Given the description of an element on the screen output the (x, y) to click on. 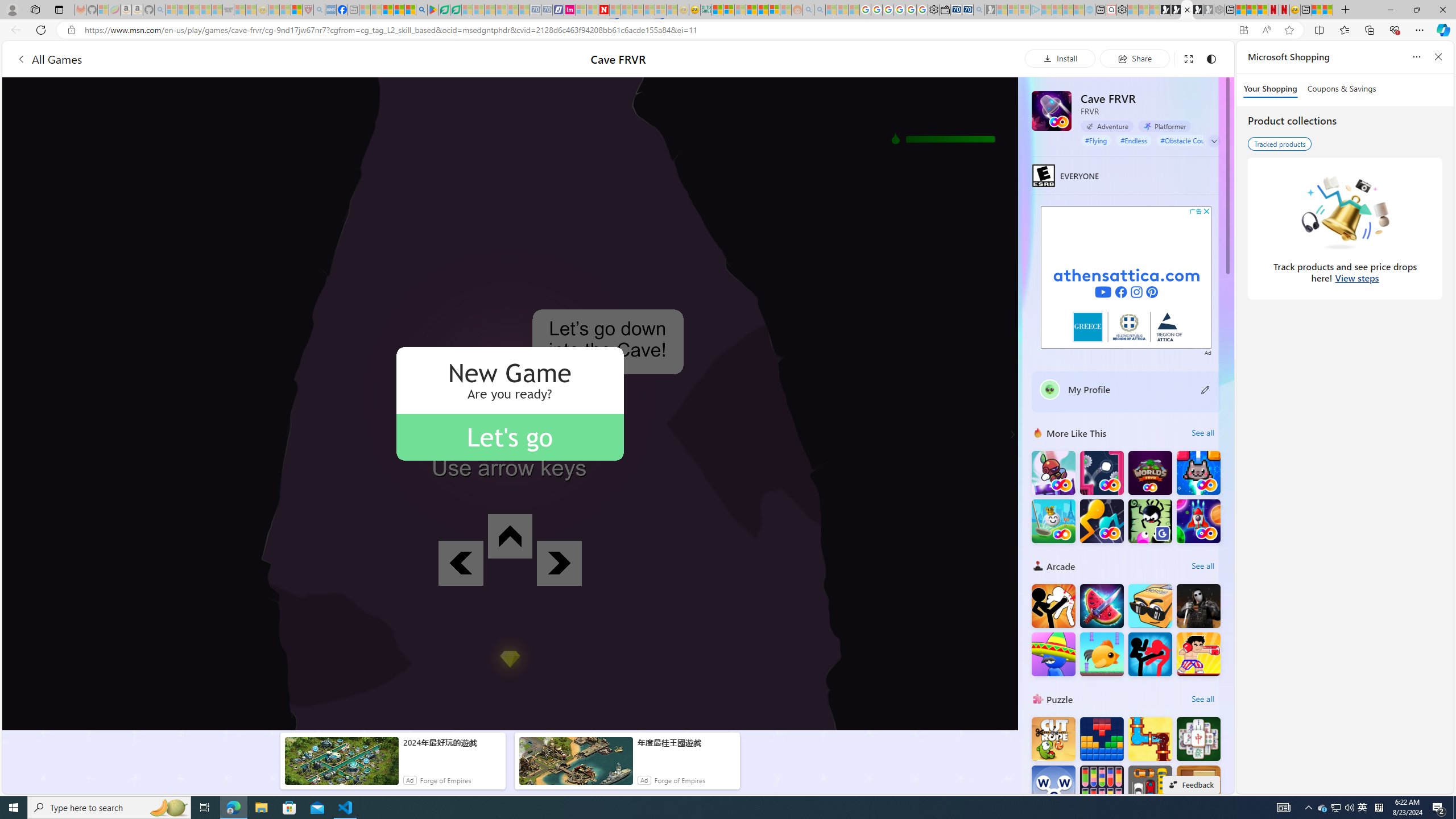
Golf Gardens FRVR (1053, 521)
Adventure (1107, 126)
Hunter Hitman (1198, 605)
Wildlife - MSN (1316, 9)
Water Sort Quest : Mission (1101, 787)
New tab - Sleeping (353, 9)
Flappy Chicken (1101, 653)
Cubes2048 (1149, 605)
14 Common Myths Debunked By Scientific Facts - Sleeping (626, 9)
See all (1202, 698)
